Given the description of an element on the screen output the (x, y) to click on. 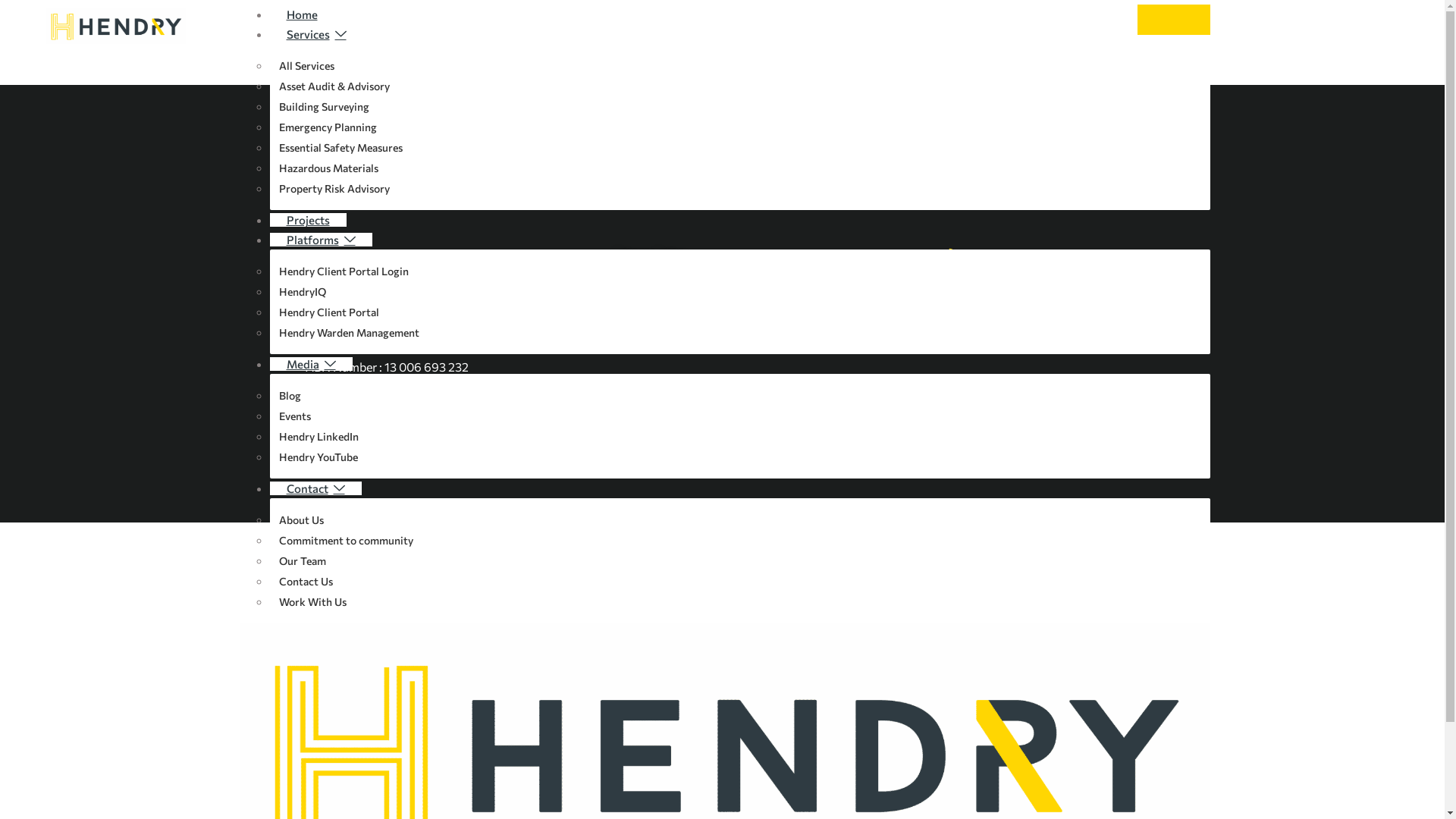
Contact Element type: text (315, 488)
Hendry LinkedIn Element type: text (318, 435)
Hendry Warden Management Element type: text (348, 332)
Hendry Group Element type: text (1040, 338)
Essential Safety Measures Element type: text (340, 147)
Environment and Sustainability Statement Element type: text (770, 310)
Asset Audit & Advisory Element type: text (333, 85)
All Services Element type: text (305, 65)
Emergency Planning Element type: text (327, 126)
Modern Slavery Statement Element type: text (770, 281)
Events Element type: text (294, 415)
Hendry YouTube Element type: text (317, 456)
Services Element type: text (316, 33)
Commitment to community Element type: text (345, 539)
Home Element type: text (301, 14)
Projects Element type: text (307, 219)
Privacy Policy Element type: text (770, 253)
Platforms Element type: text (320, 239)
Work With Us Element type: text (311, 601)
Property Risk Advisory Element type: text (333, 187)
Media Element type: text (310, 363)
info@hendry.com.au Element type: text (1040, 281)
Our Team Element type: text (301, 560)
Blog Element type: text (289, 394)
Contact Us Element type: text (305, 580)
Hendry Client Portal Element type: text (328, 311)
Building Surveying Element type: text (323, 106)
Hazardous Materials Element type: text (327, 167)
About Us Element type: text (300, 519)
HendryIQ Element type: text (301, 291)
Website Terms of Use Element type: text (770, 338)
